Given the description of an element on the screen output the (x, y) to click on. 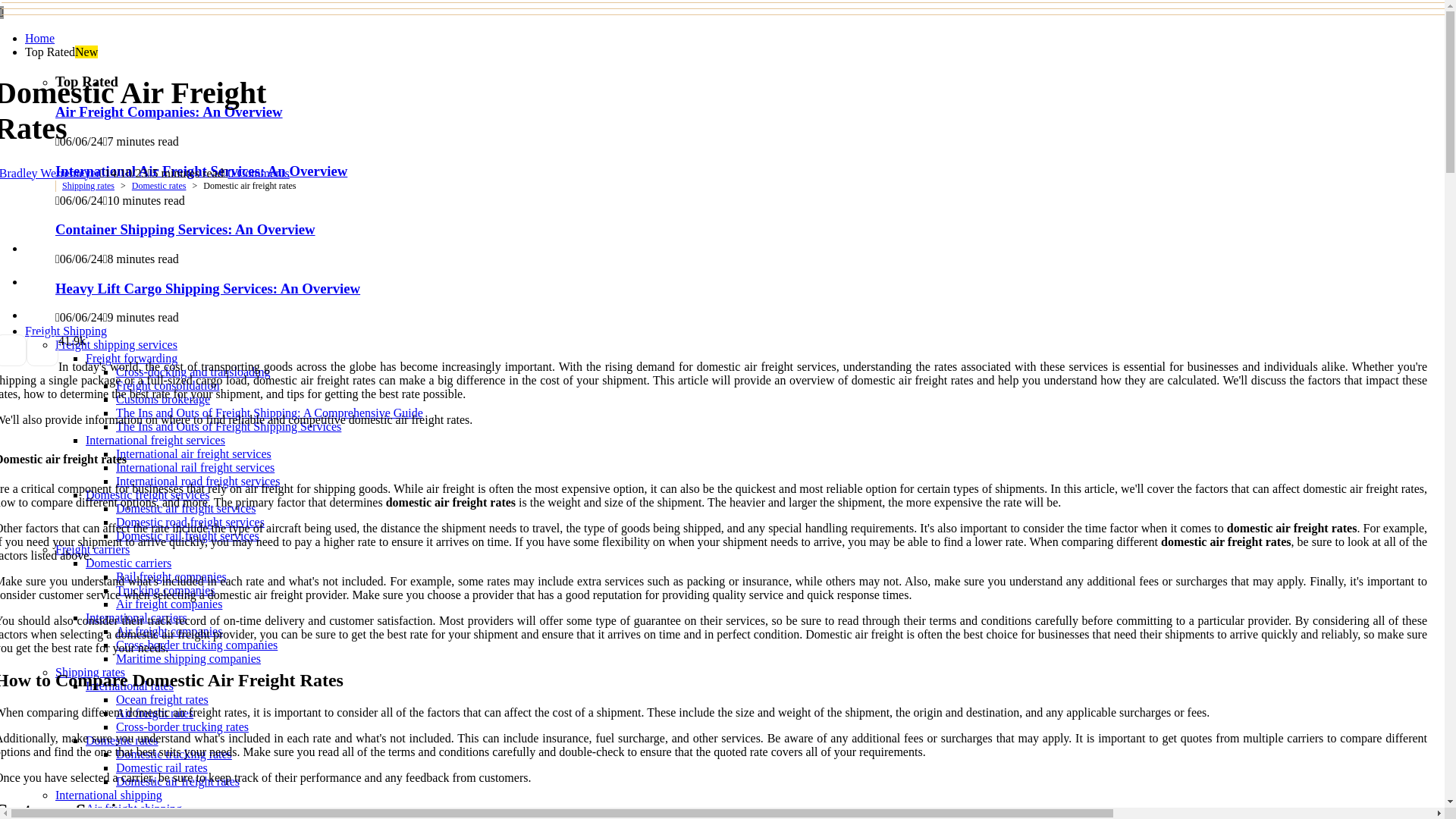
Rail freight companies (171, 576)
Top RatedNew (60, 51)
Customs brokerage (162, 399)
Air freight rates (154, 712)
International road freight services (197, 481)
Cross-border trucking companies (197, 644)
International air freight services (193, 453)
International rates (129, 685)
Freight carriers (92, 549)
Posts by Bradley Werremeyer (50, 173)
